Given the description of an element on the screen output the (x, y) to click on. 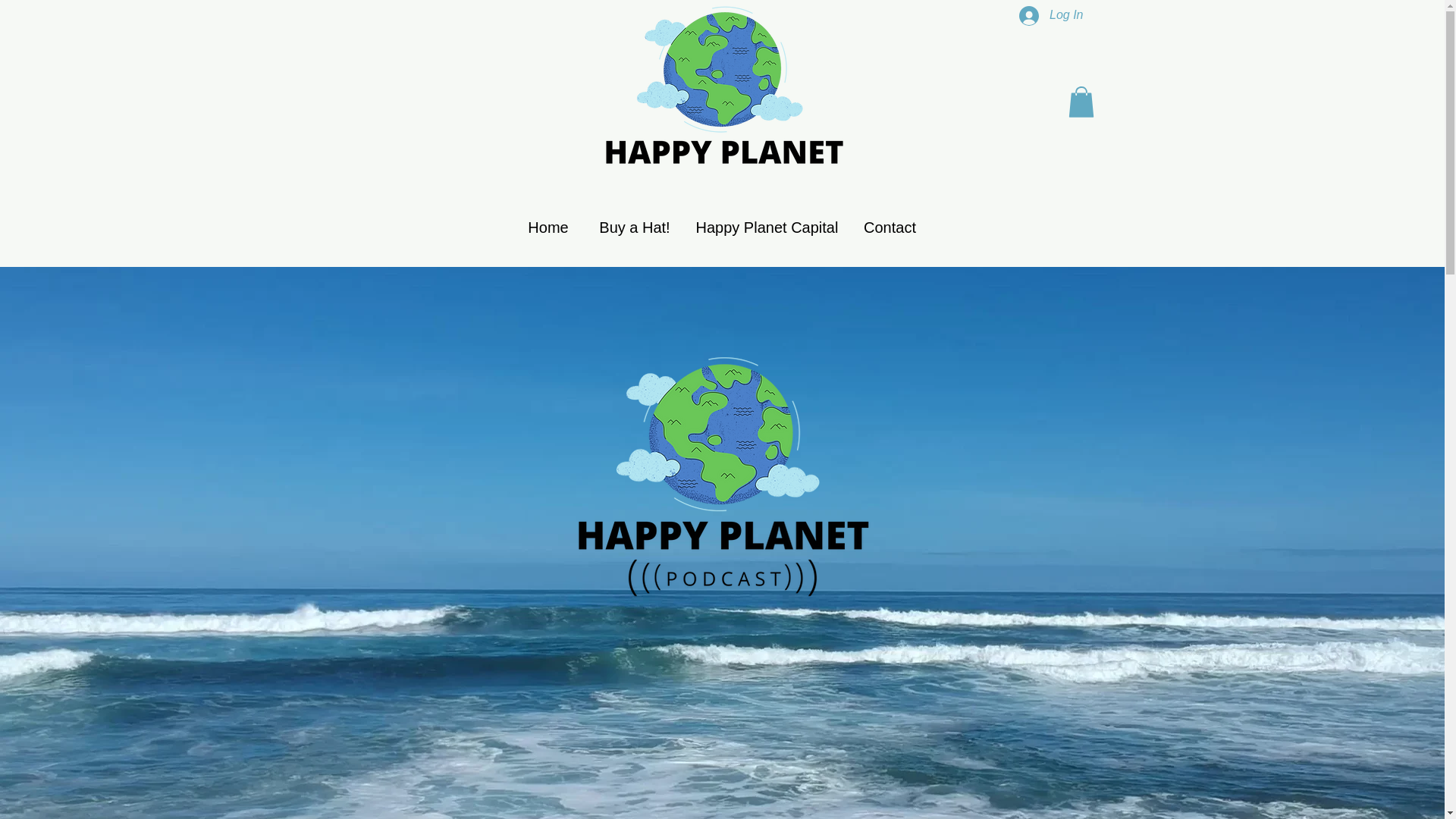
Log In (1051, 15)
Contact (890, 227)
Happy Planet Capital (765, 227)
Buy a Hat! (634, 227)
Home (548, 227)
